Given the description of an element on the screen output the (x, y) to click on. 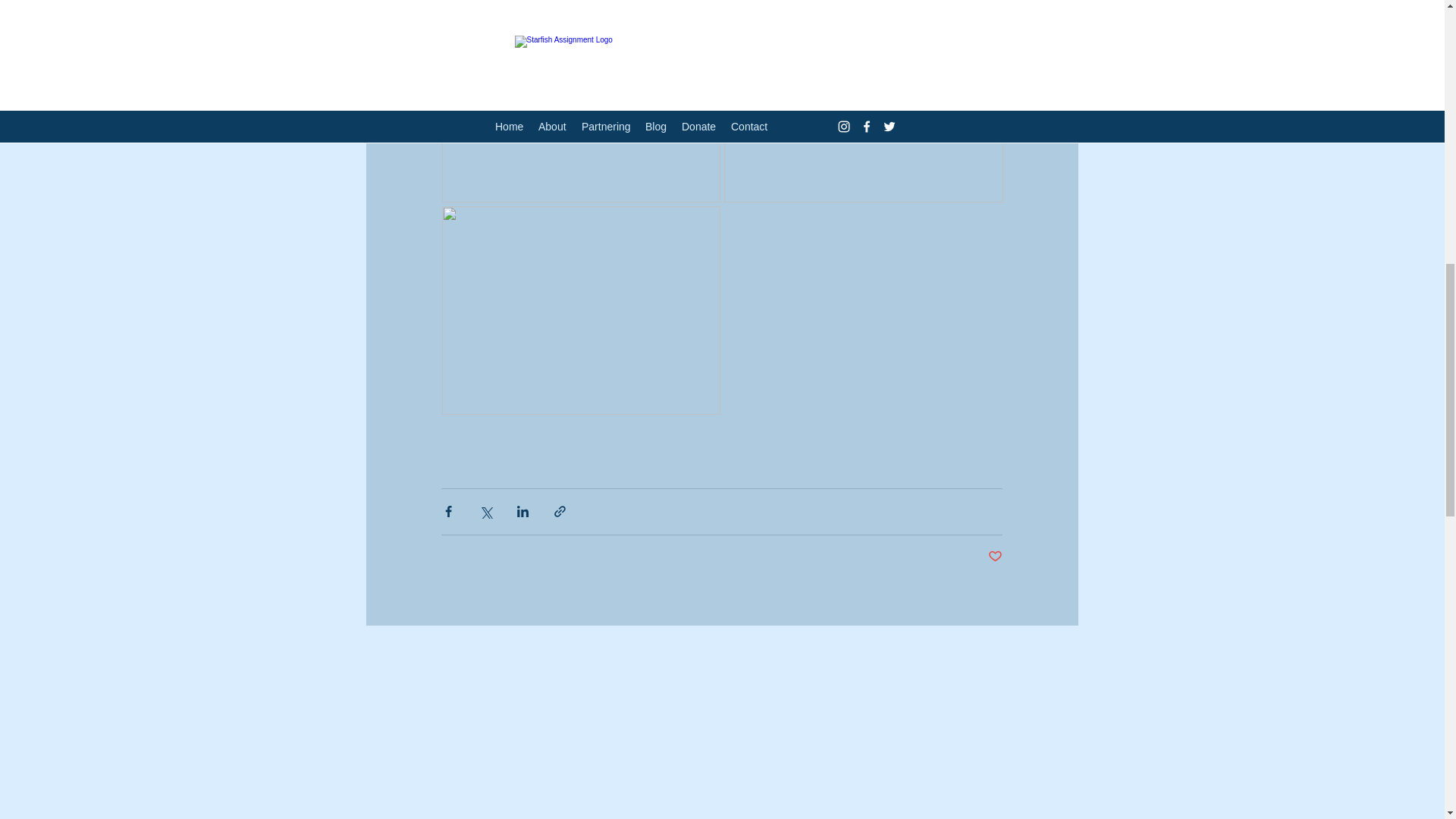
Post not marked as liked (995, 556)
